Given the description of an element on the screen output the (x, y) to click on. 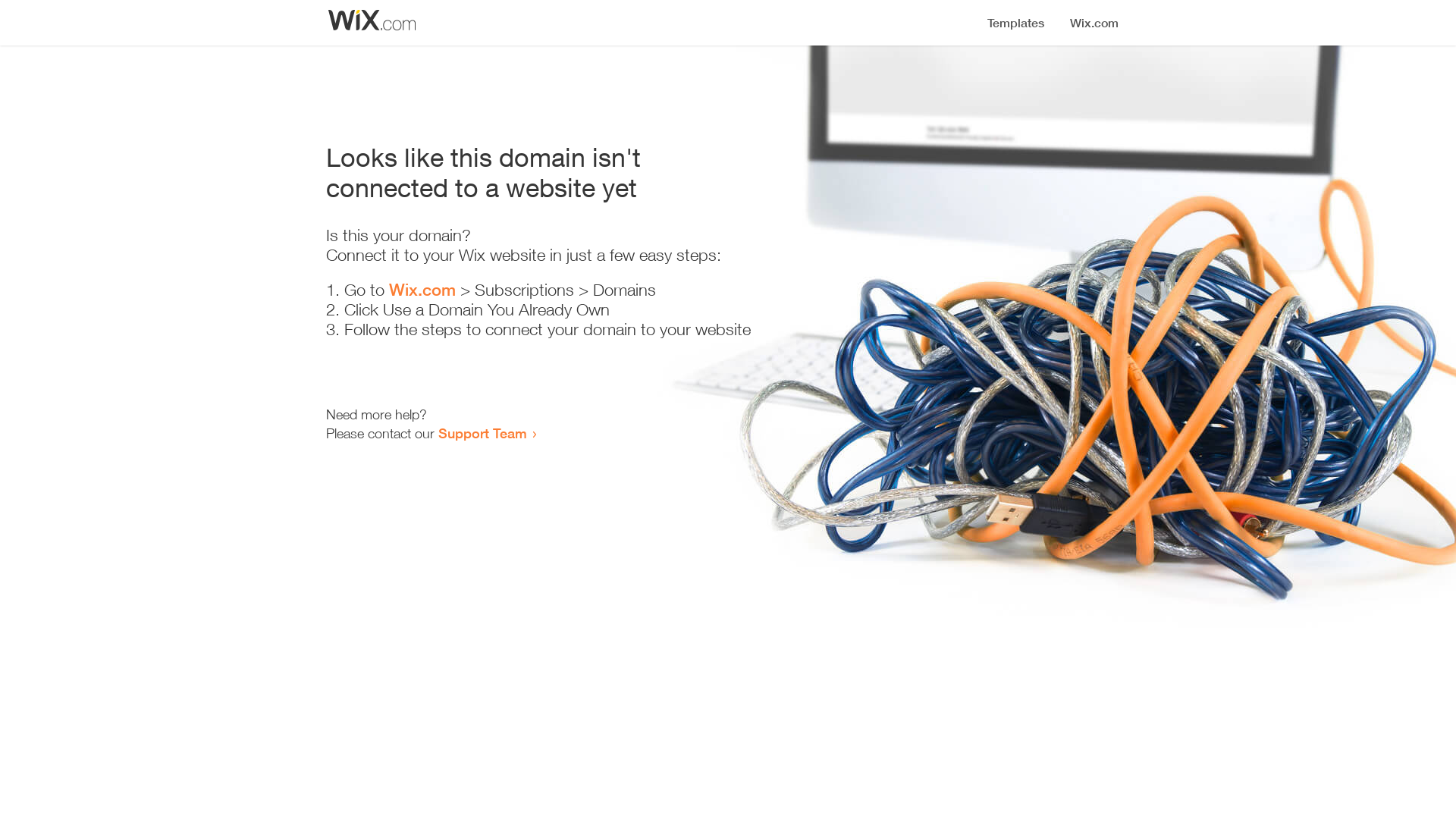
Support Team Element type: text (482, 432)
Wix.com Element type: text (422, 289)
